Given the description of an element on the screen output the (x, y) to click on. 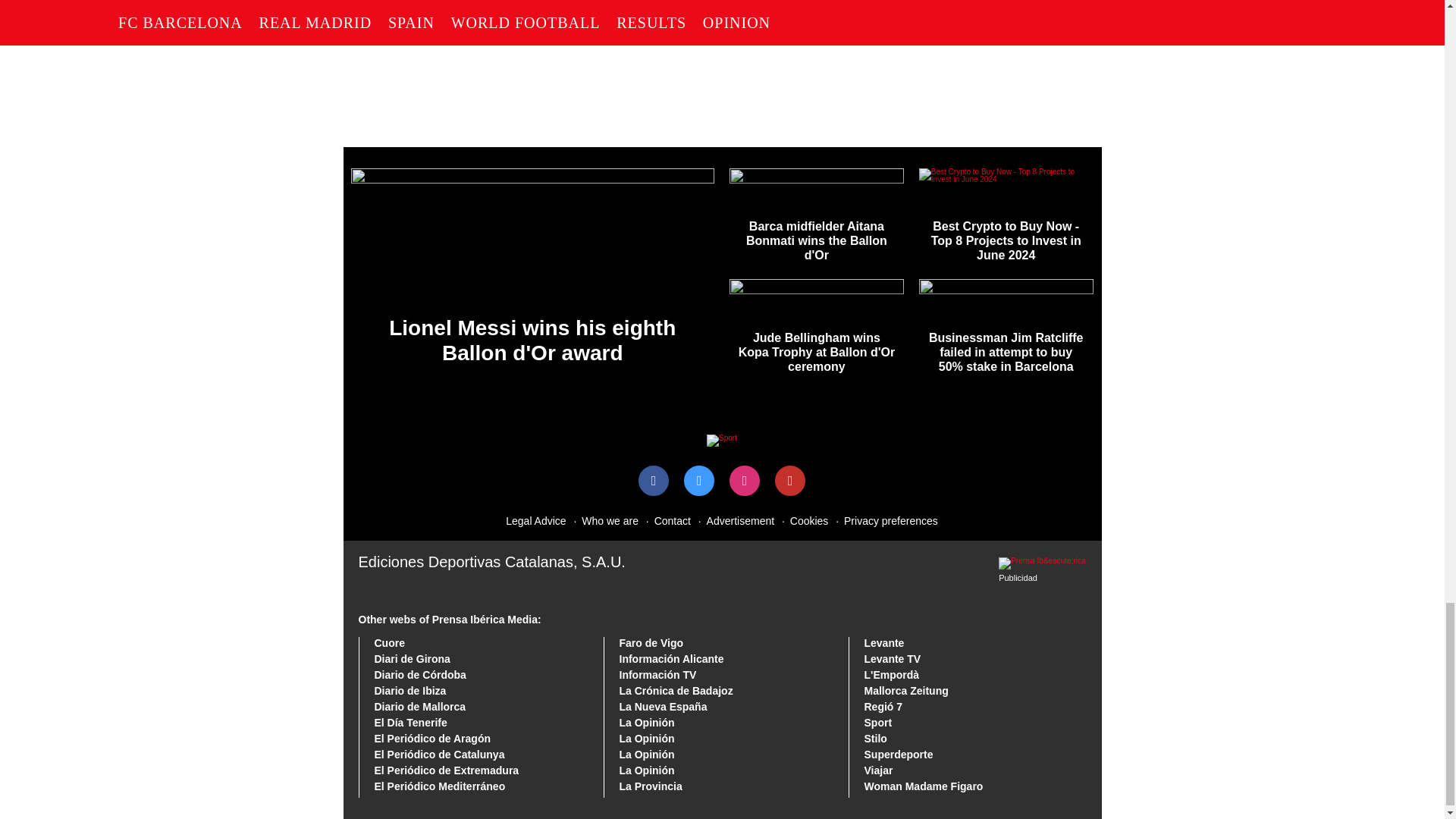
Cookies (802, 520)
Who we are (603, 520)
Privacy preferences (883, 520)
Legal Advice (535, 520)
Advertisement (733, 520)
Contact (665, 520)
